Given the description of an element on the screen output the (x, y) to click on. 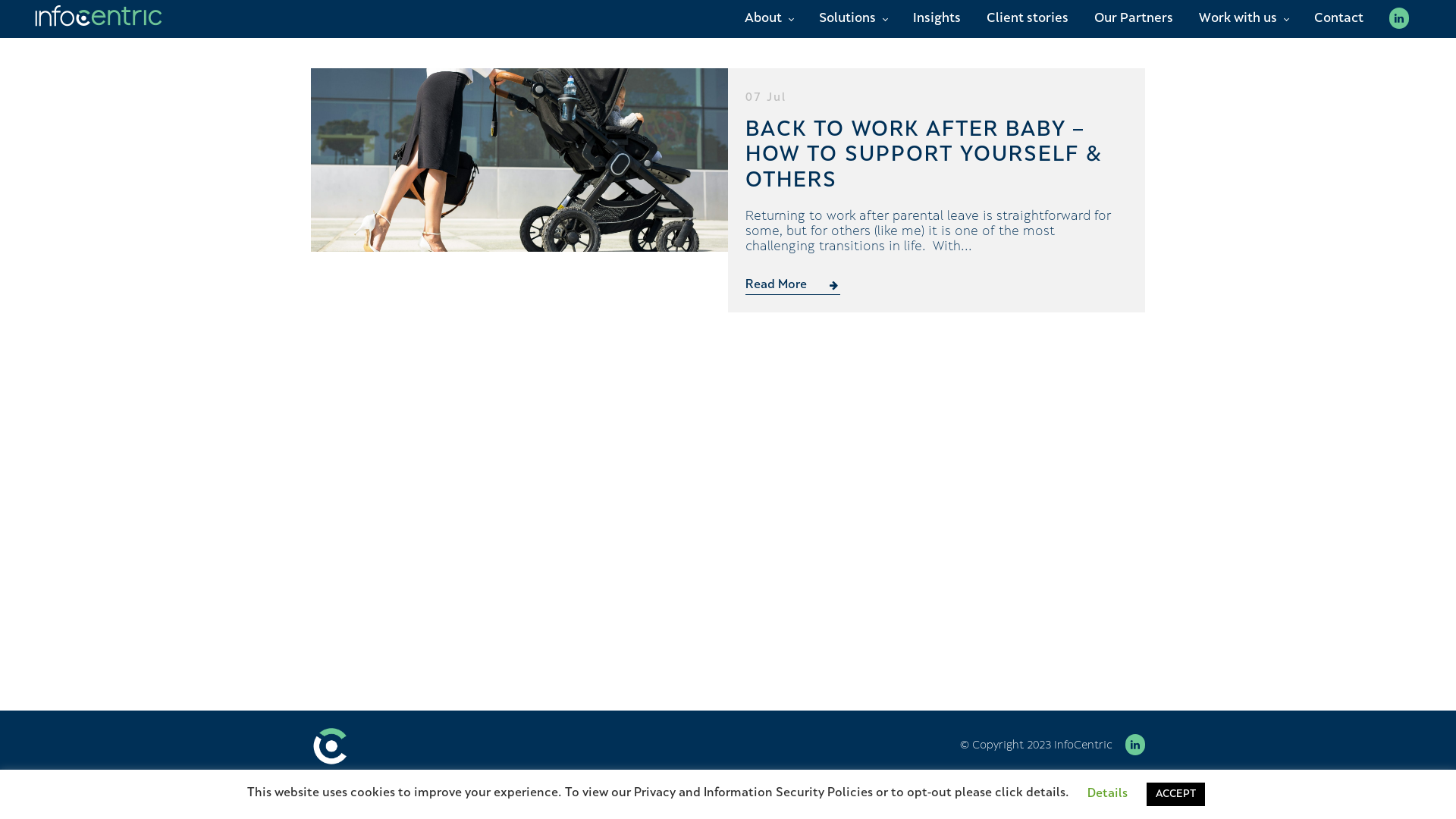
ACCEPT Element type: text (1175, 794)
Contact Element type: text (1338, 18)
About Element type: text (768, 18)
Details Element type: text (1107, 794)
Our Partners Element type: text (1133, 18)
Client stories Element type: text (1027, 18)
Insights Element type: text (936, 18)
Work with us Element type: text (1243, 18)
Solutions Element type: text (853, 18)
Read More Element type: text (792, 285)
